Given the description of an element on the screen output the (x, y) to click on. 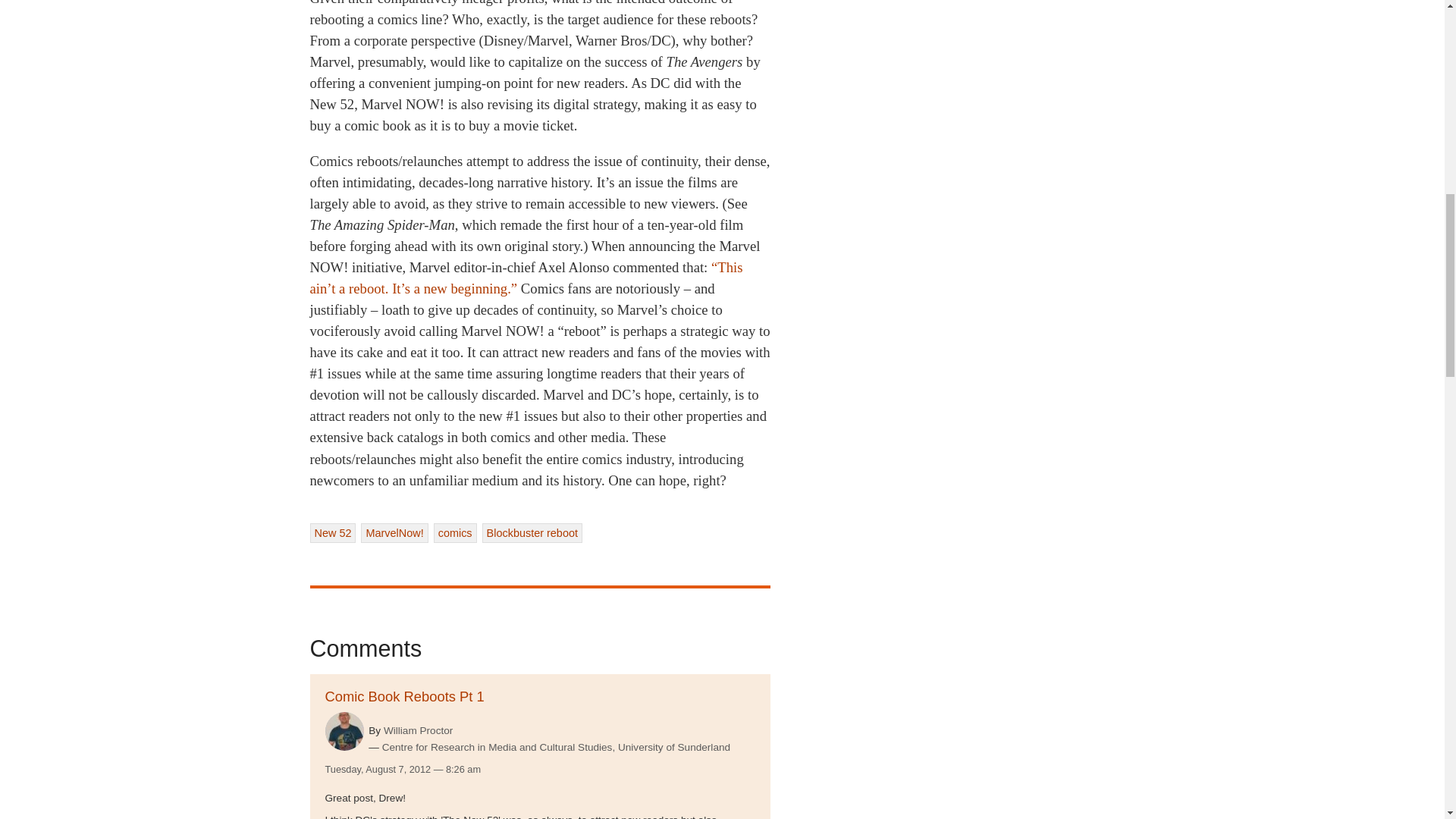
New 52 (331, 532)
William Proctor (418, 730)
MarvelNow! (394, 532)
Blockbuster reboot (531, 532)
View user profile. (343, 731)
User profile: William Proctor (418, 730)
comics (455, 532)
Comic Book Reboots Pt 1 (403, 696)
